Given the description of an element on the screen output the (x, y) to click on. 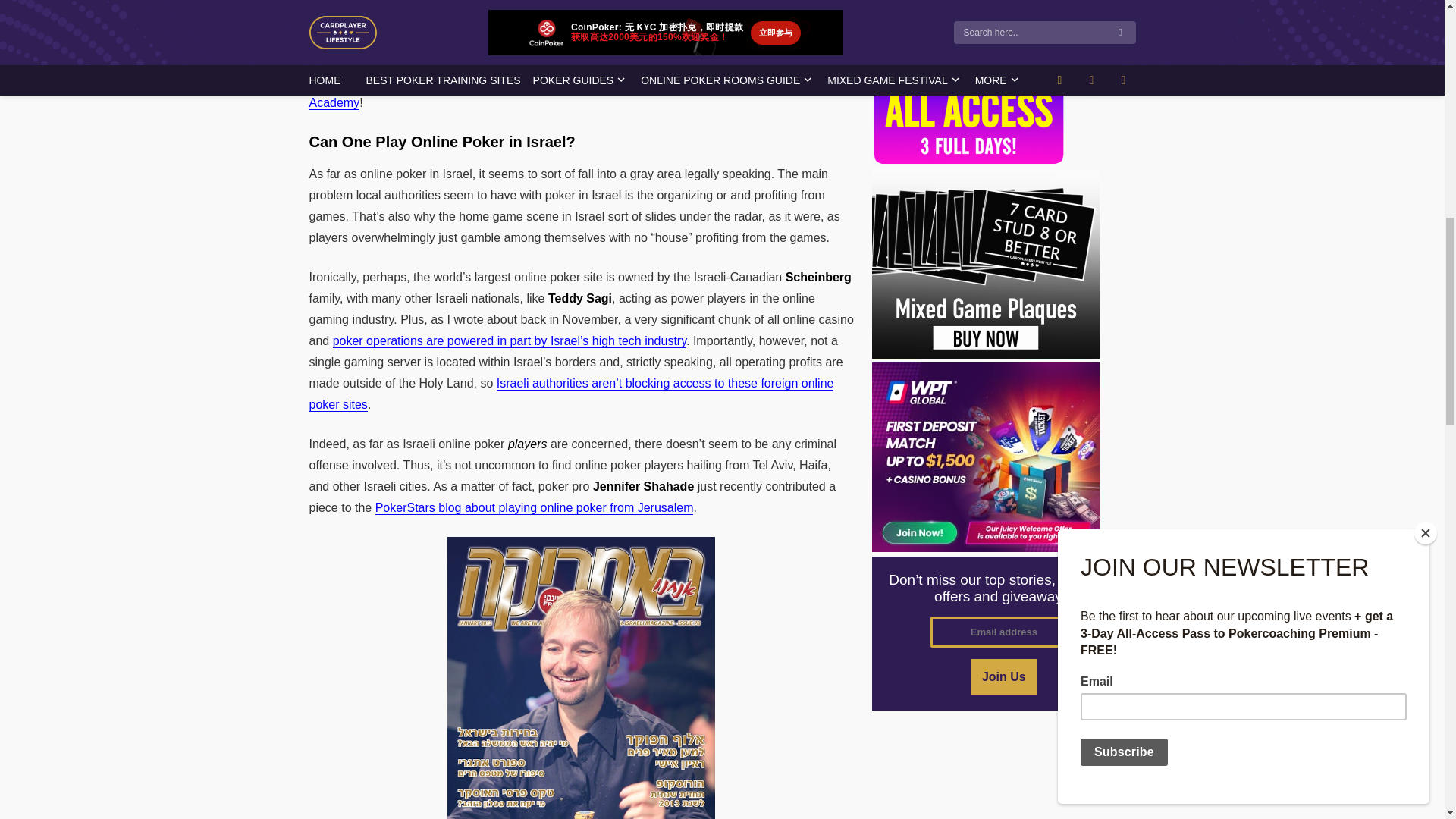
Join Us (1003, 677)
Israel Poker Academy (578, 92)
